Given the description of an element on the screen output the (x, y) to click on. 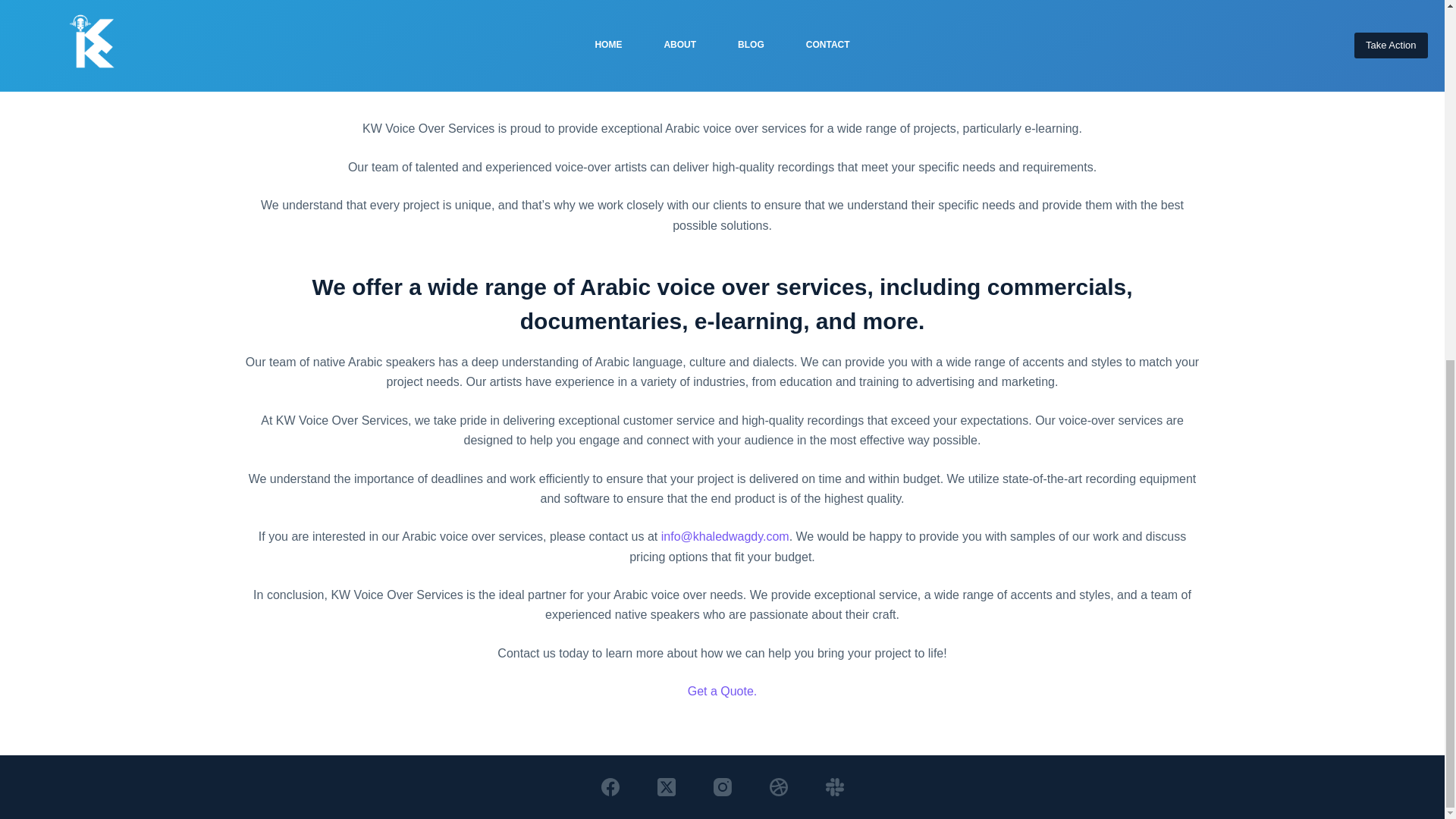
Get a Quote. (722, 690)
